Given the description of an element on the screen output the (x, y) to click on. 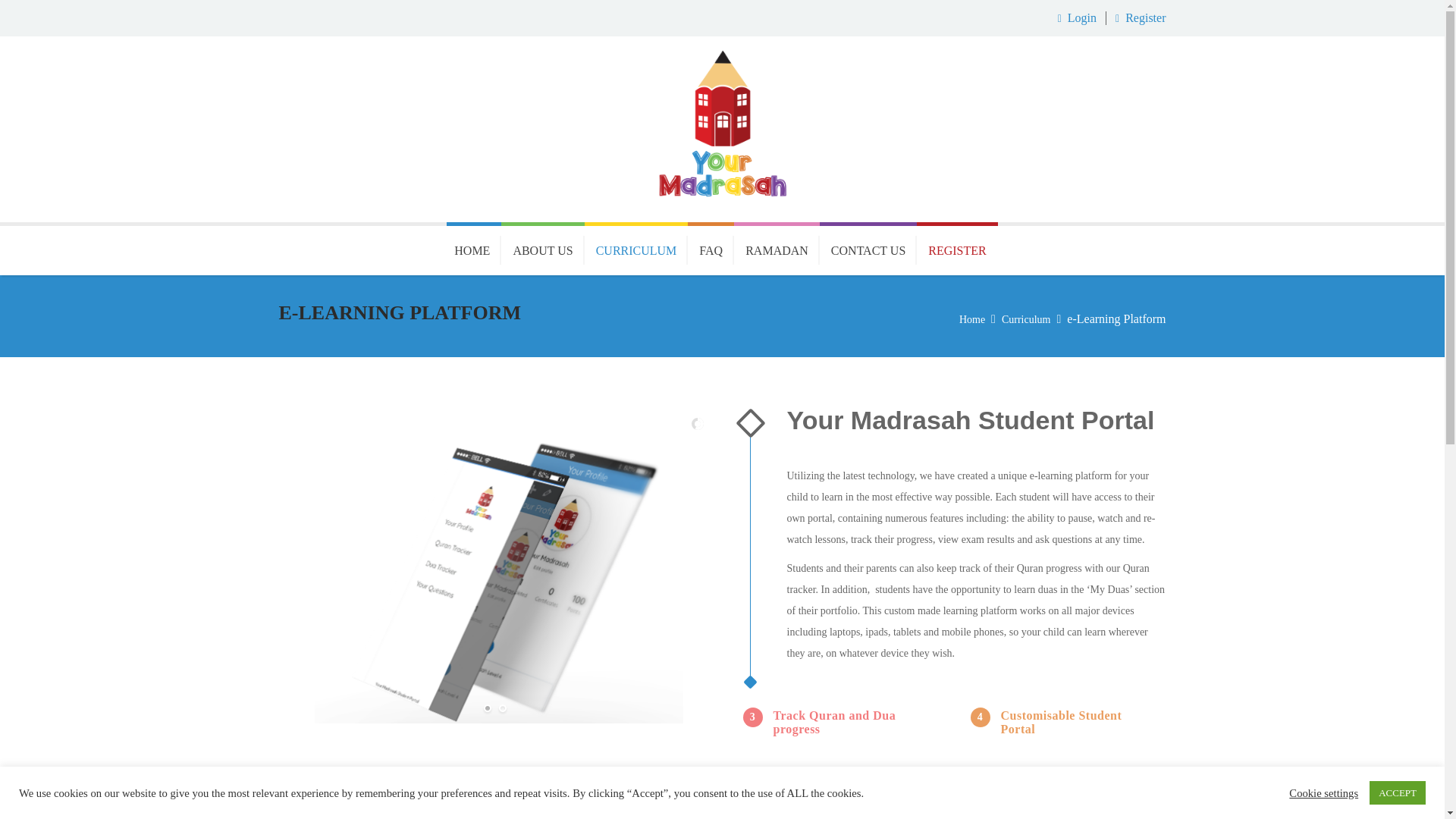
CURRICULUM (636, 248)
HOME (473, 248)
Register (1145, 17)
Login (1081, 17)
Home (972, 319)
RAMADAN (776, 248)
Curriculum (1026, 319)
ABOUT US (541, 248)
Login (1081, 17)
REGISTER (957, 248)
Register (1145, 17)
CONTACT US (868, 248)
